Given the description of an element on the screen output the (x, y) to click on. 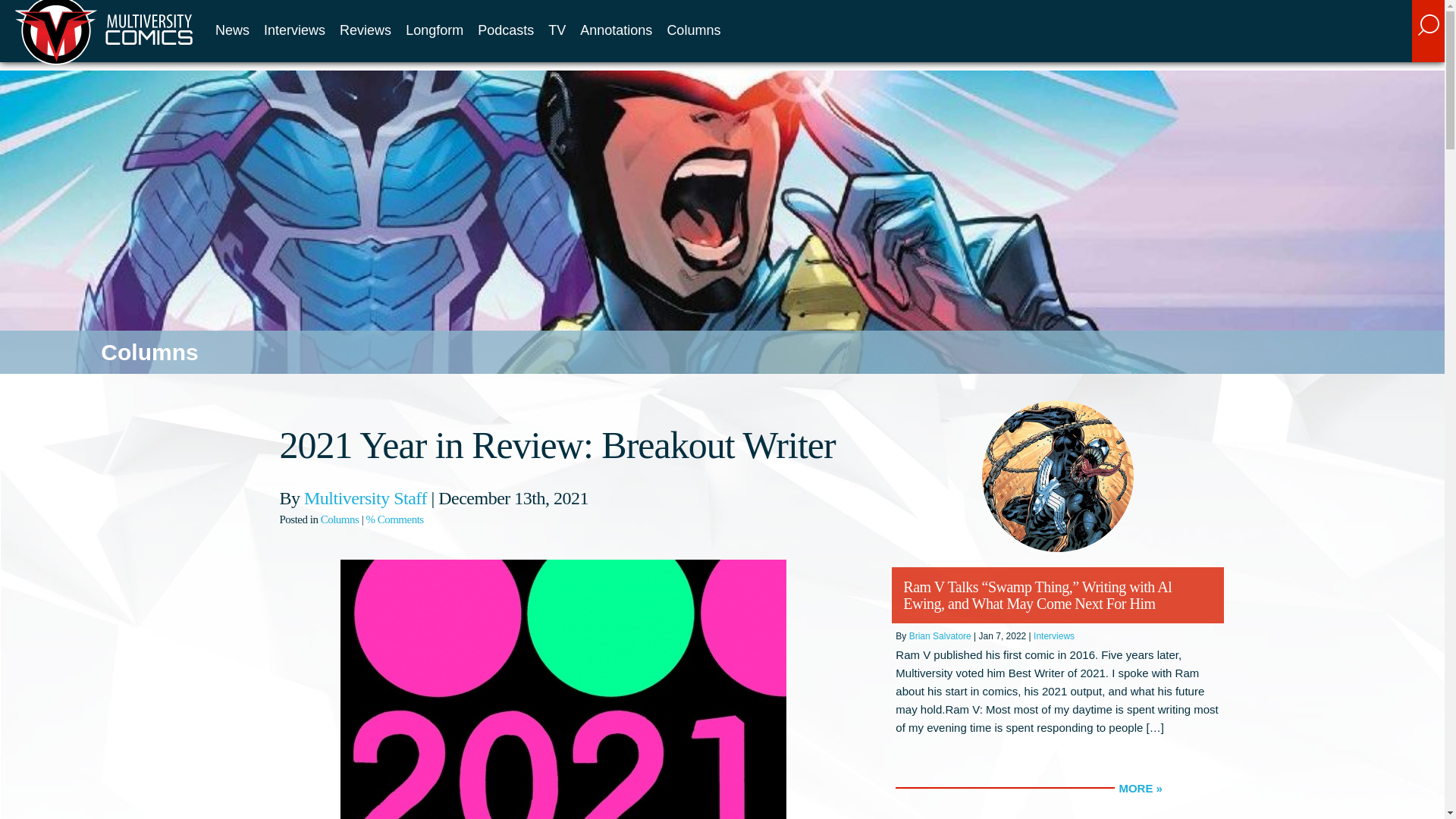
Longform (434, 29)
Posts by Multiversity Staff (365, 497)
Interviews (293, 29)
Multiversity Staff (365, 497)
Reviews (365, 29)
Podcasts (505, 29)
TV (557, 29)
Columns (339, 519)
Search (1323, 43)
Columns (693, 29)
Brian Salvatore (939, 635)
News (231, 29)
Posts by Brian Salvatore (939, 635)
Annotations (615, 29)
